Given the description of an element on the screen output the (x, y) to click on. 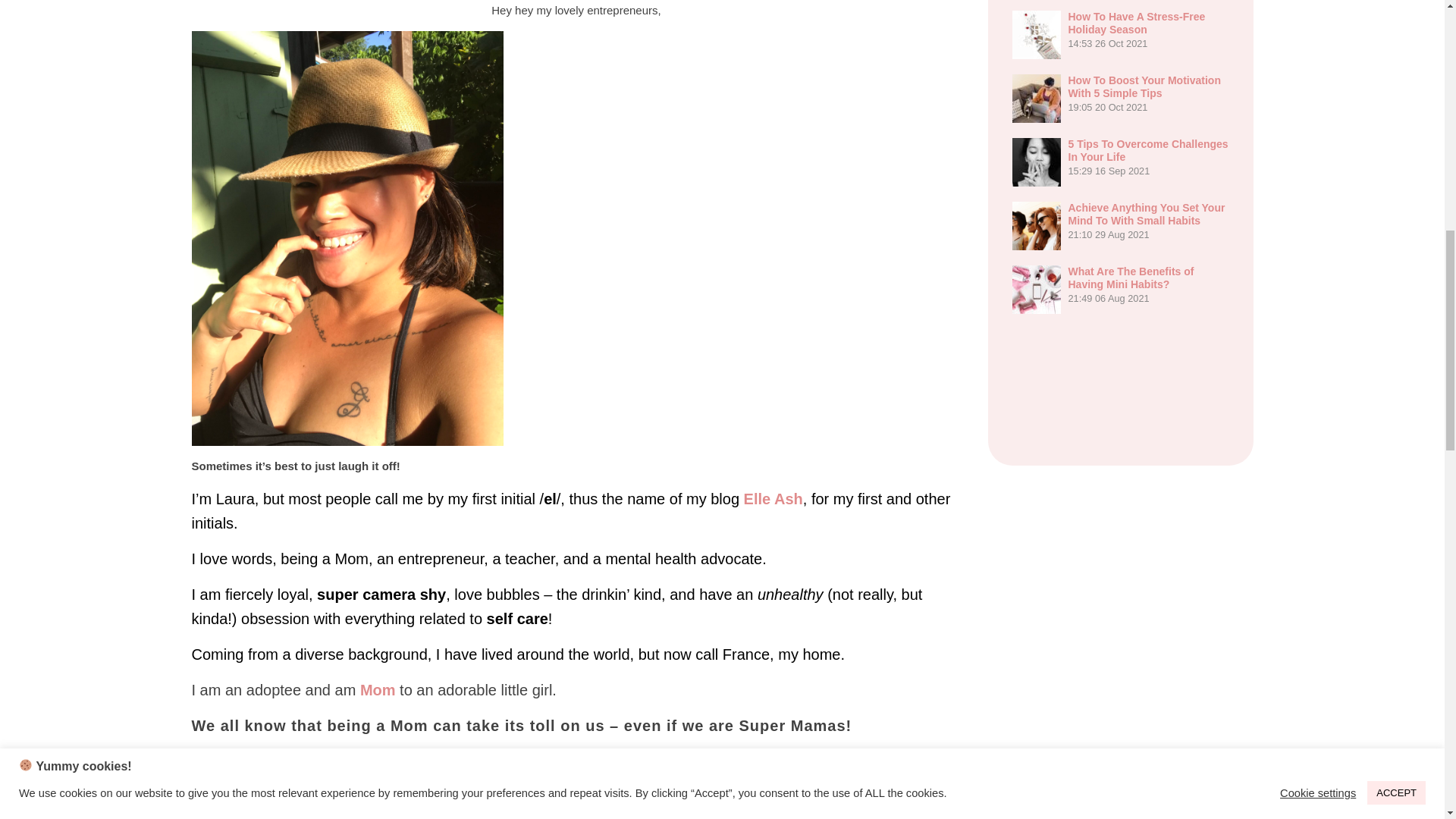
Elle Ash (346, 238)
